Given the description of an element on the screen output the (x, y) to click on. 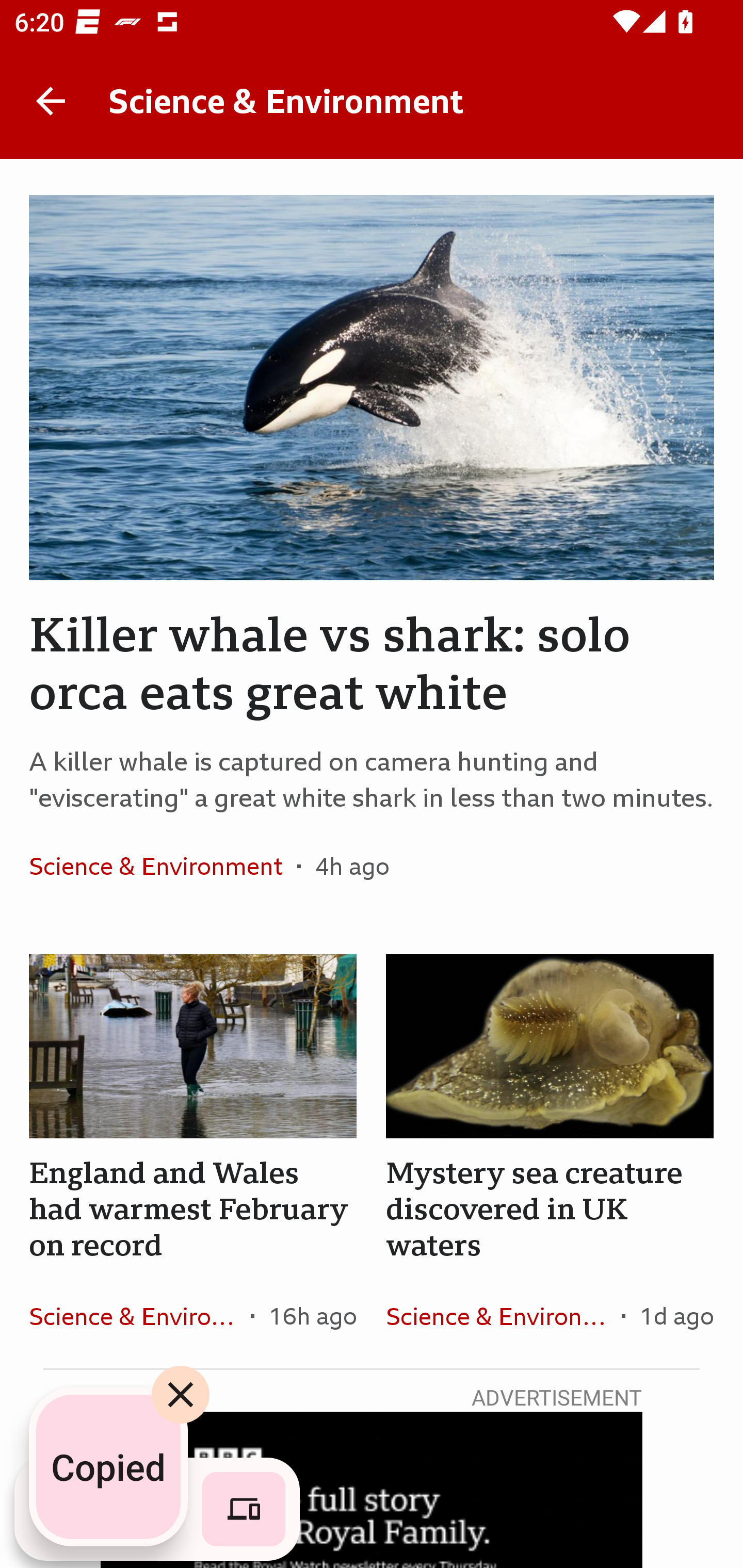
Back (50, 101)
